Given the description of an element on the screen output the (x, y) to click on. 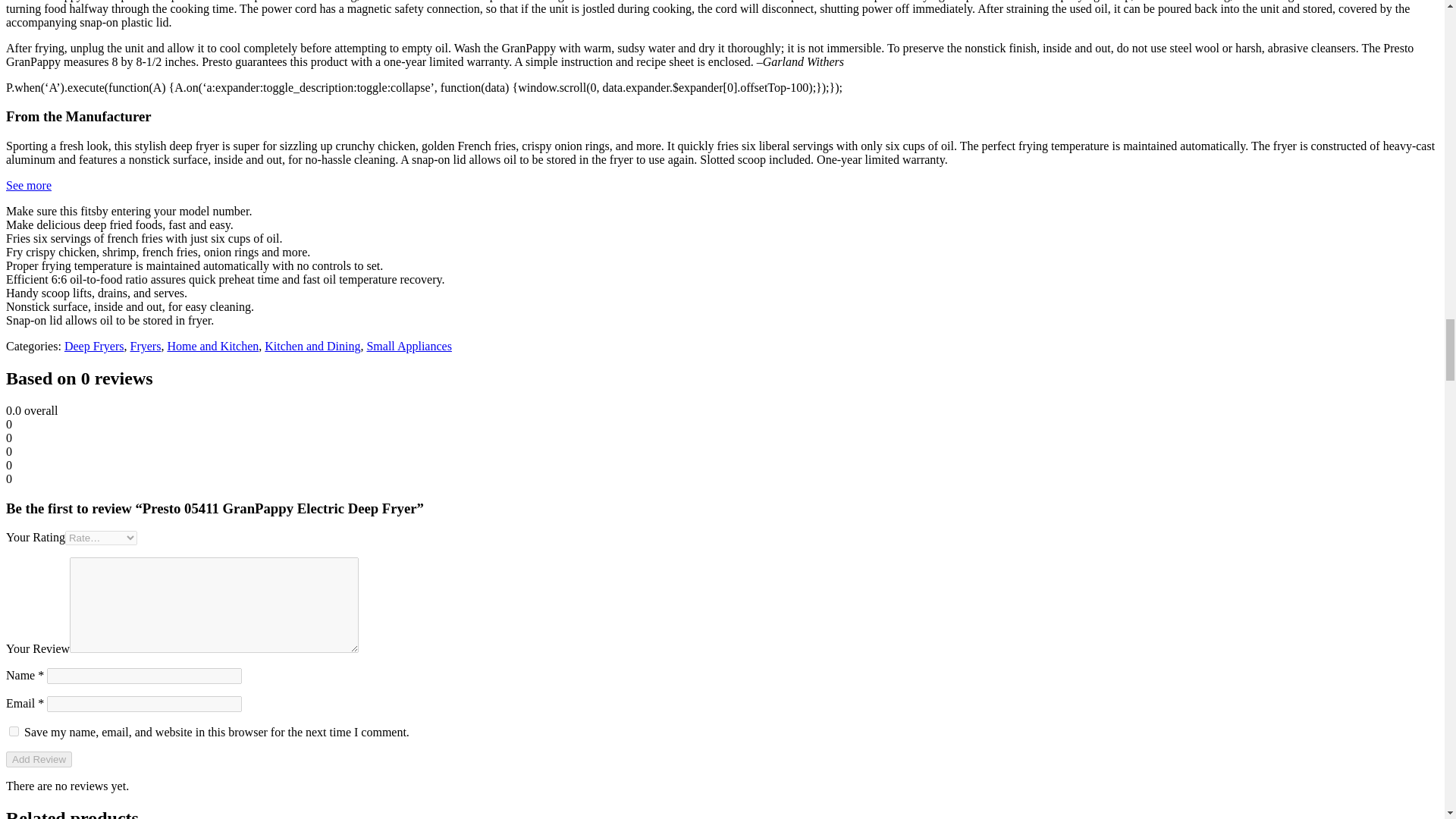
Add Review (38, 759)
yes (13, 731)
